Given the description of an element on the screen output the (x, y) to click on. 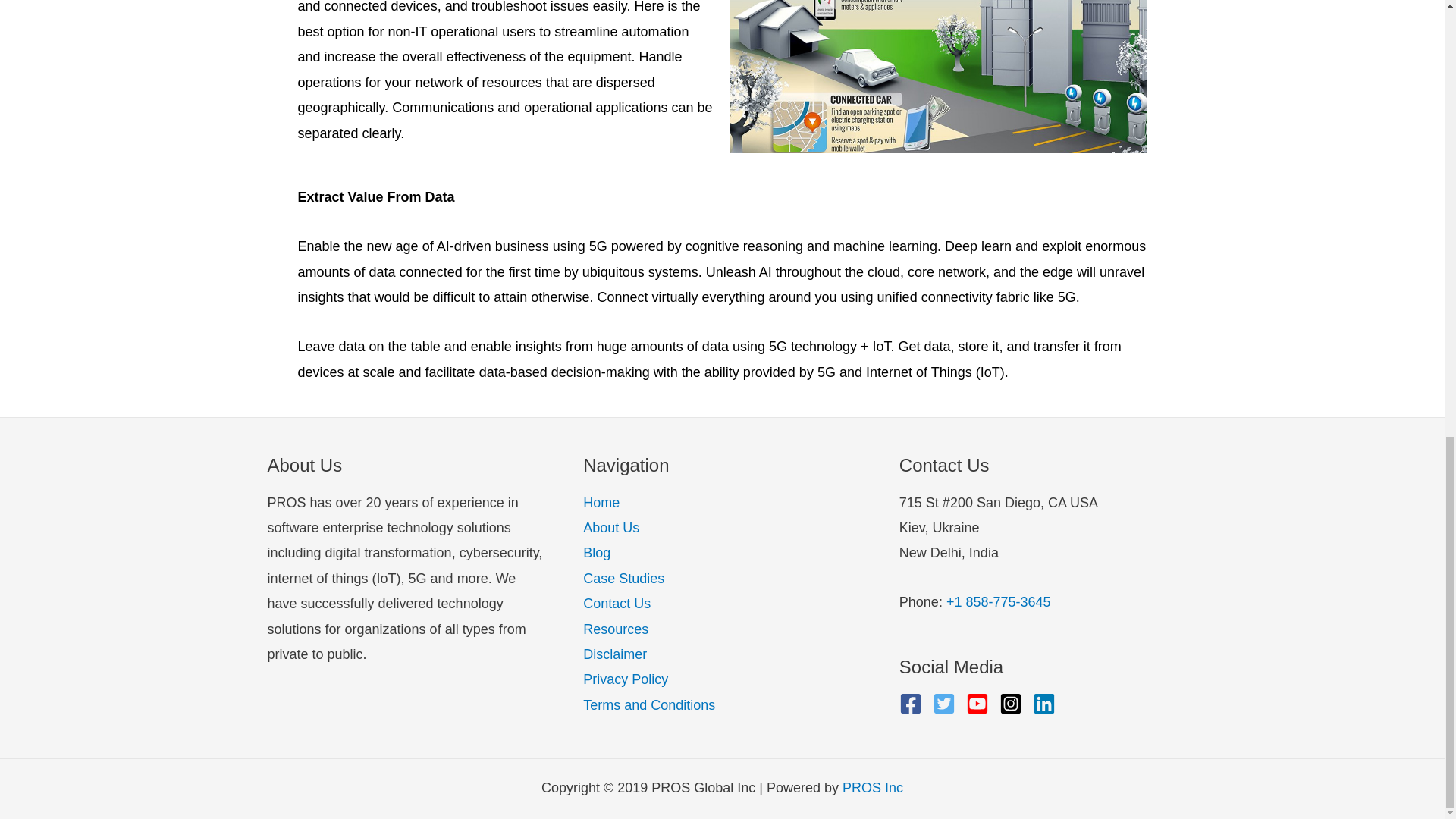
Contact Us (616, 603)
Resources (615, 629)
Blog (596, 552)
Home (601, 502)
PROS Inc (872, 787)
Terms and Conditions (648, 704)
Case Studies (623, 578)
Disclaimer (614, 654)
About Us (611, 527)
Privacy Policy (625, 679)
